Given the description of an element on the screen output the (x, y) to click on. 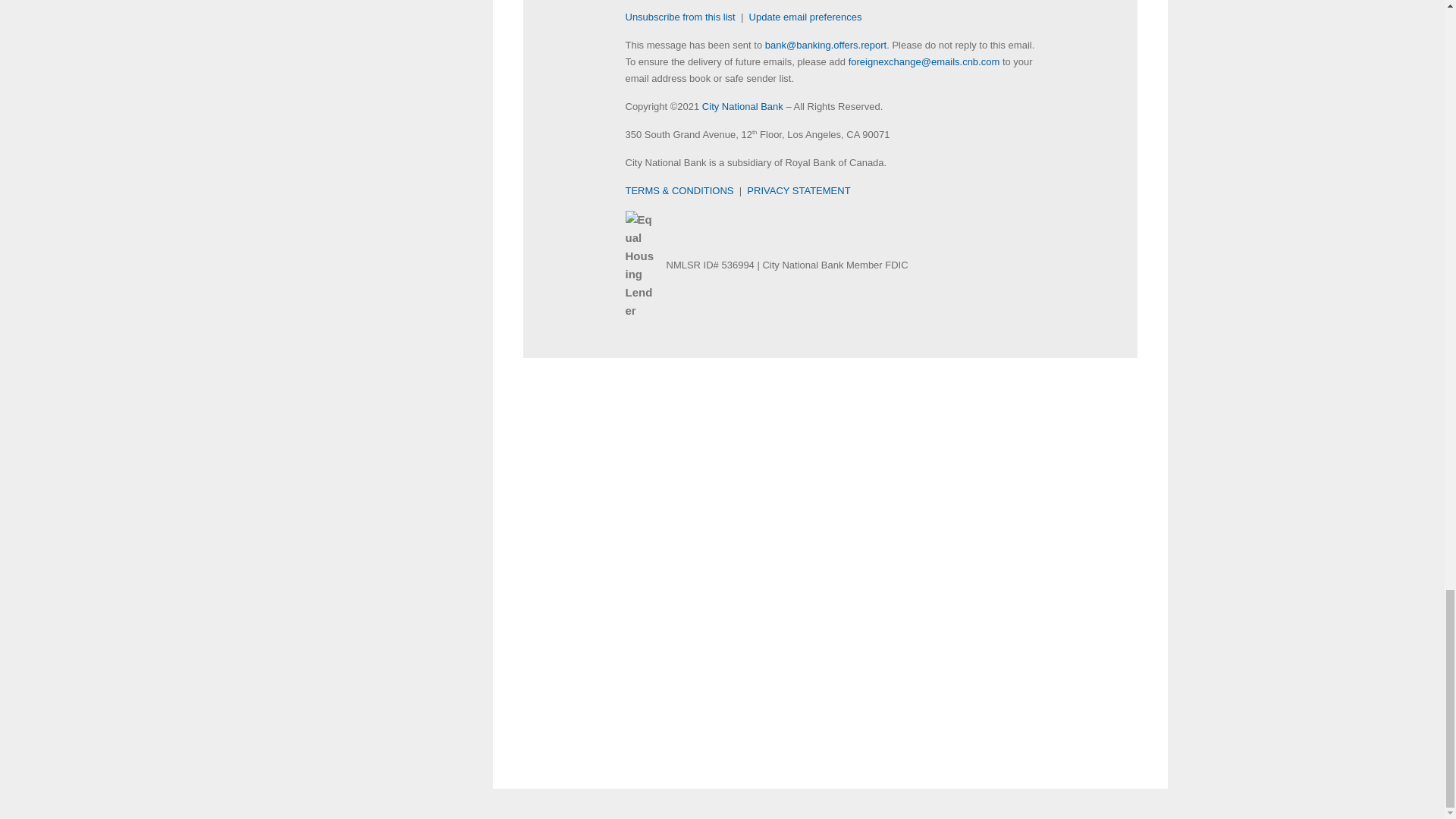
City National Bank (742, 106)
Update email preferences (805, 16)
PRIVACY STATEMENT (798, 190)
Unsubscribe from this list (679, 16)
